Given the description of an element on the screen output the (x, y) to click on. 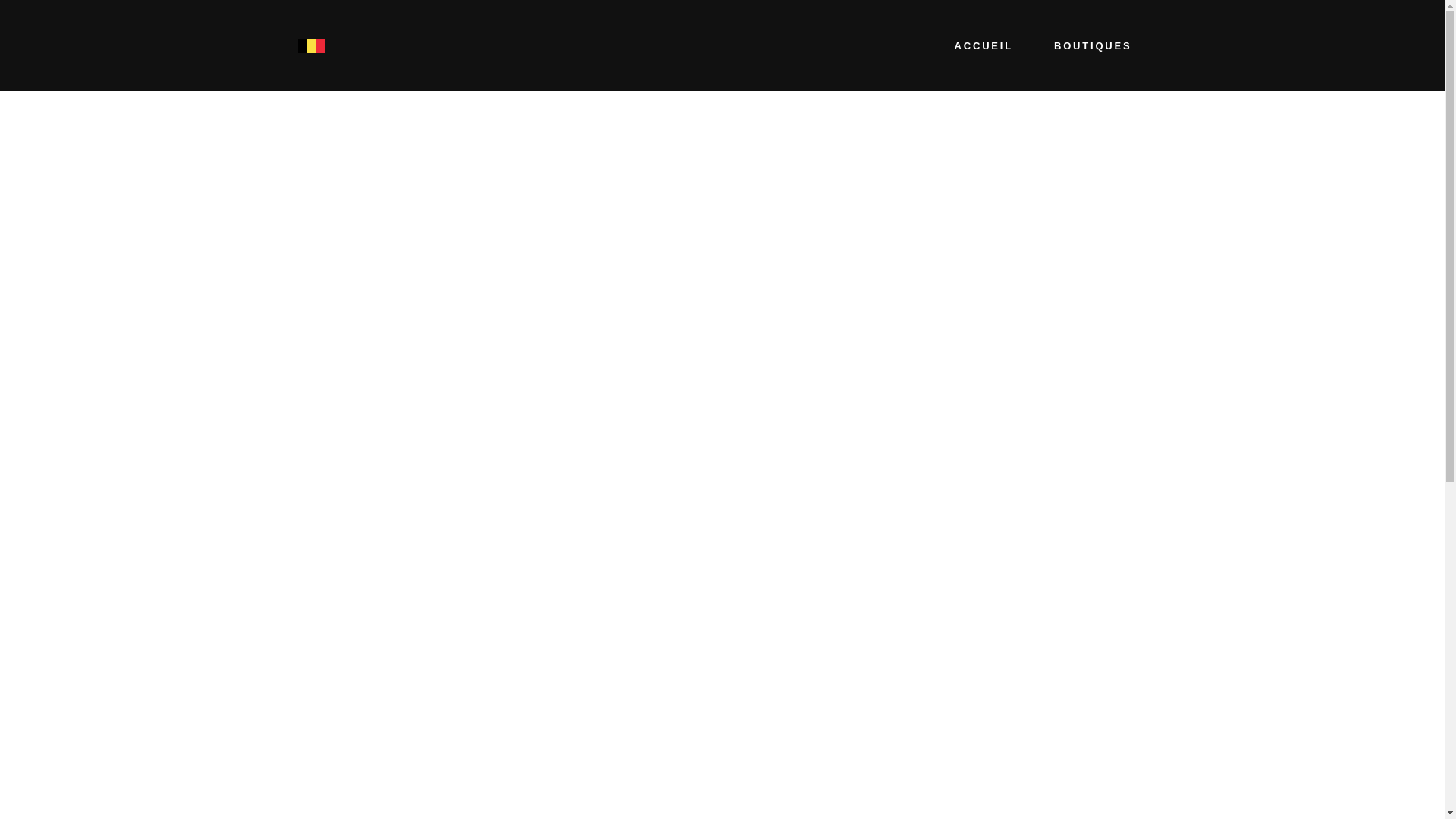
ACCUEIL Element type: text (983, 44)
BOUTIQUES Element type: text (1092, 44)
